Given the description of an element on the screen output the (x, y) to click on. 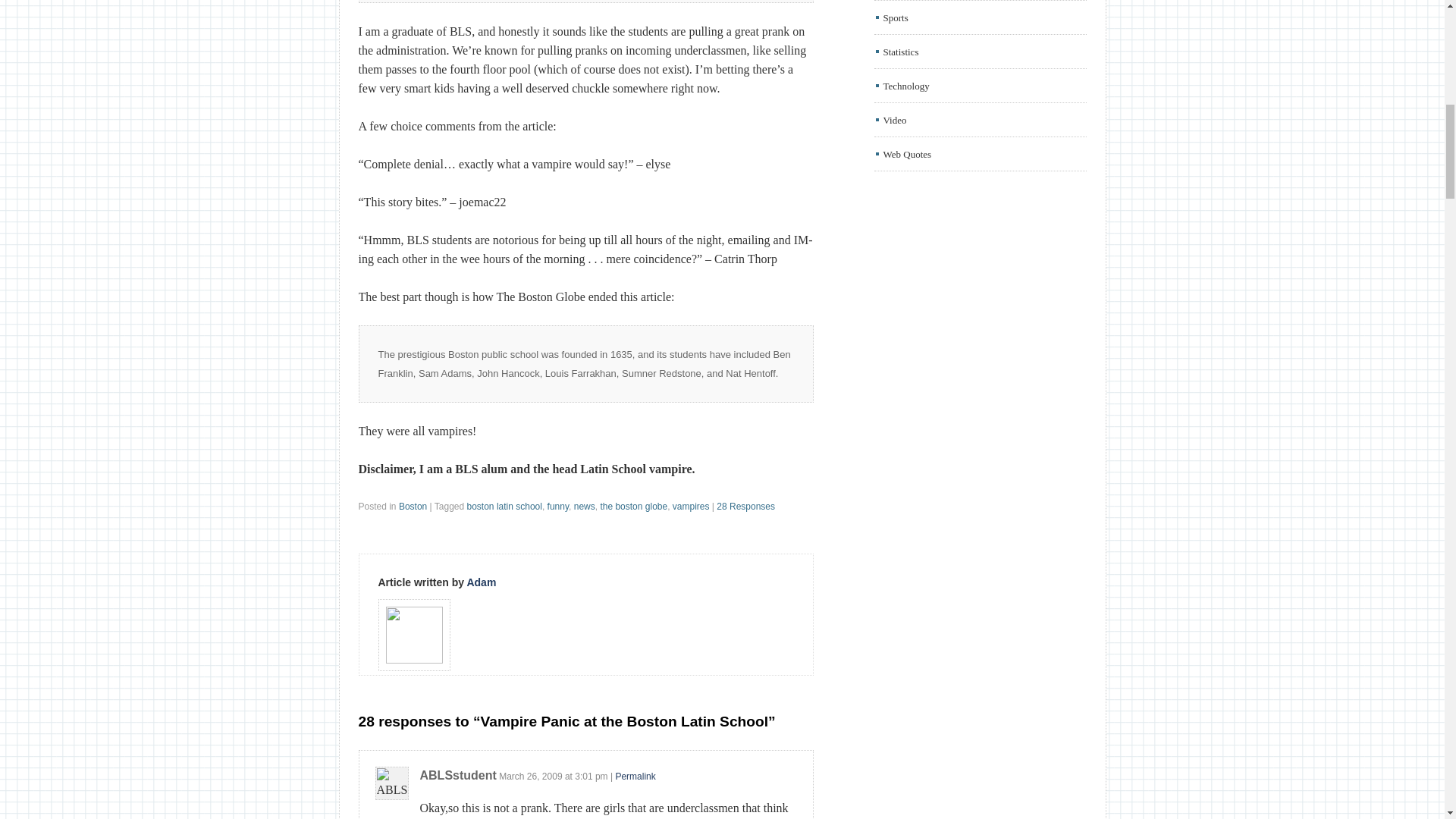
the boston globe (632, 506)
boston latin school (504, 506)
funny (558, 506)
news (584, 506)
Permalink (634, 776)
Comment on Vampire Panic at the Boston Latin School (745, 506)
Permalink to comment 25095 (634, 776)
vampires (691, 506)
28 Responses (745, 506)
Boston (412, 506)
Adam (480, 582)
Thursday, March 26th, 2009, 3:01 pm (591, 776)
Thursday, March 26th, 2009, 3:01 pm (530, 776)
Adam (480, 582)
